Given the description of an element on the screen output the (x, y) to click on. 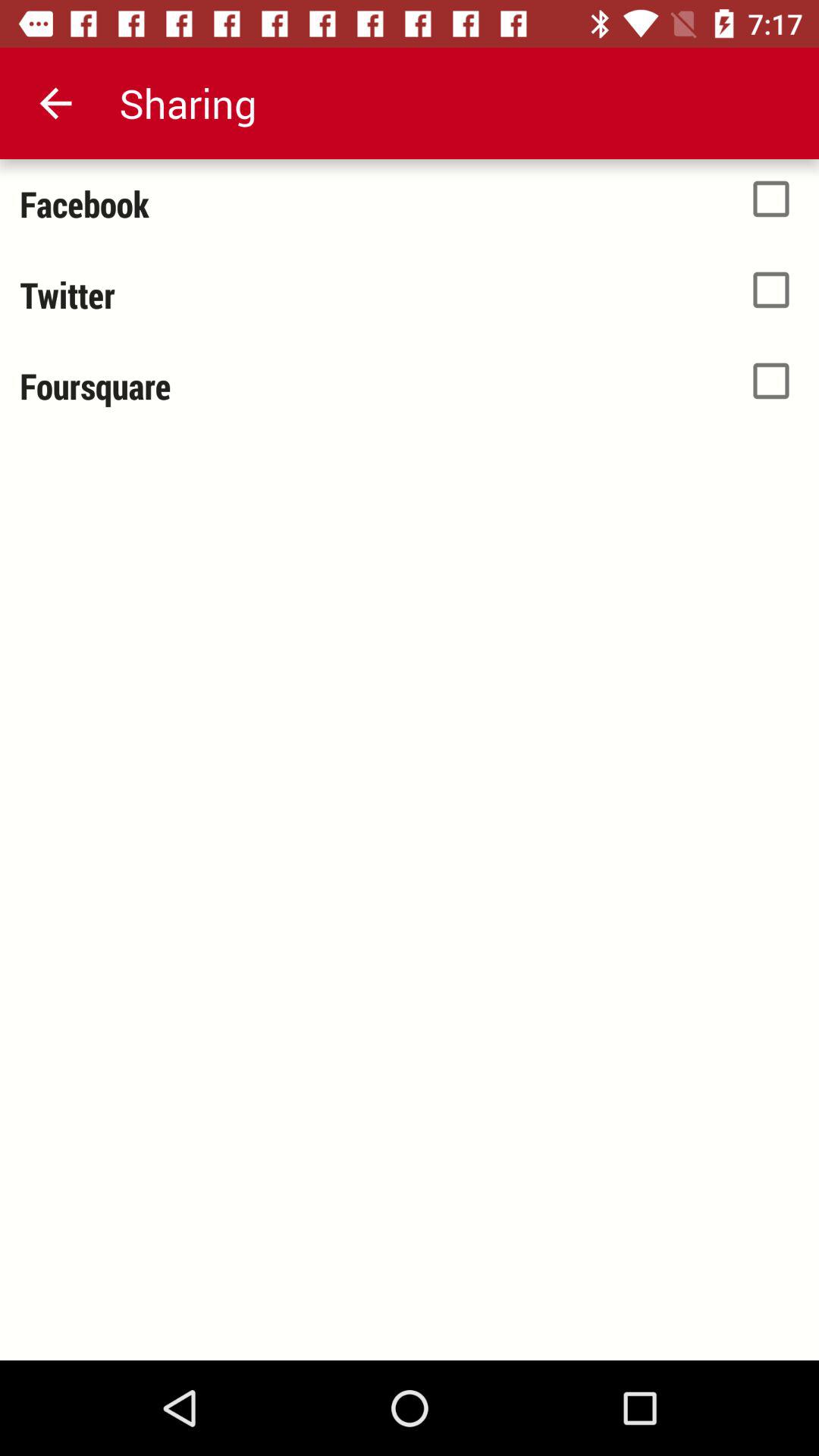
select the icon above facebook (55, 103)
